Given the description of an element on the screen output the (x, y) to click on. 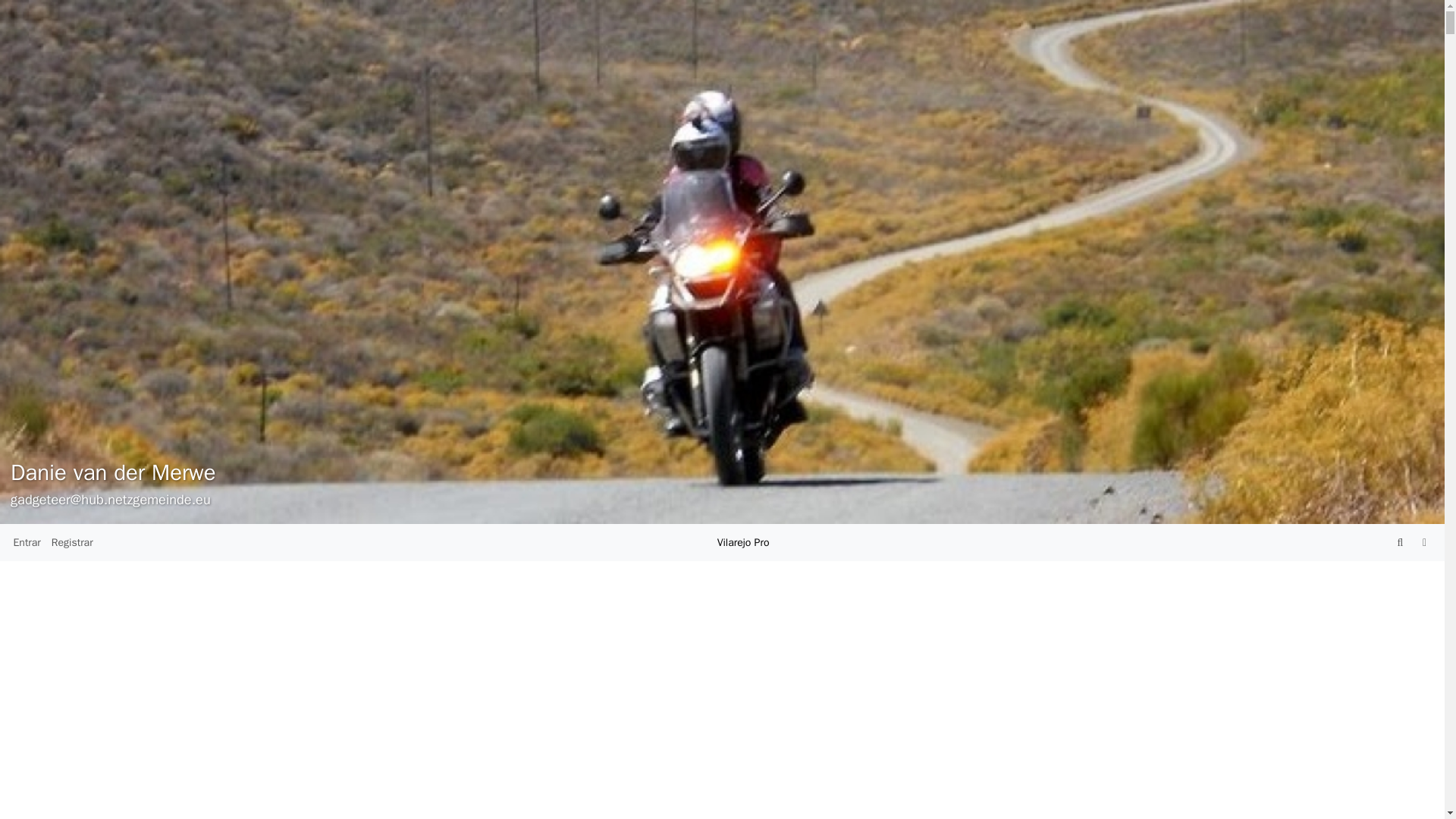
Criar uma conta (72, 542)
Registrar (72, 542)
Entrar (26, 542)
Entrar (26, 542)
